Given the description of an element on the screen output the (x, y) to click on. 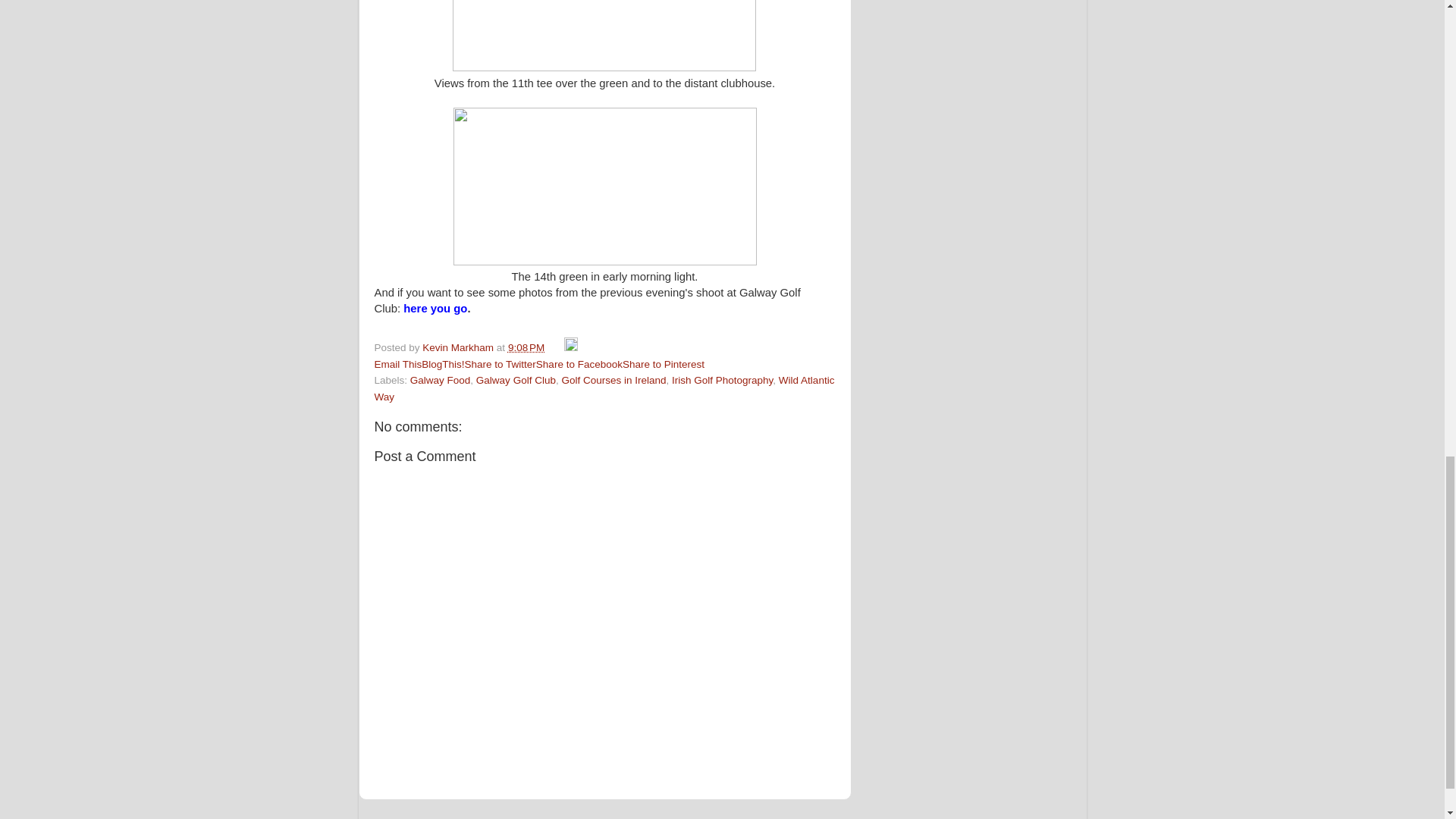
Irish Golf Photography (722, 379)
permanent link (526, 347)
Share to Facebook (579, 364)
Wild Atlantic Way (604, 388)
BlogThis! (443, 364)
Galway Golf Club (603, 35)
BlogThis! (443, 364)
Share to Twitter (499, 364)
Share to Facebook (579, 364)
